Given the description of an element on the screen output the (x, y) to click on. 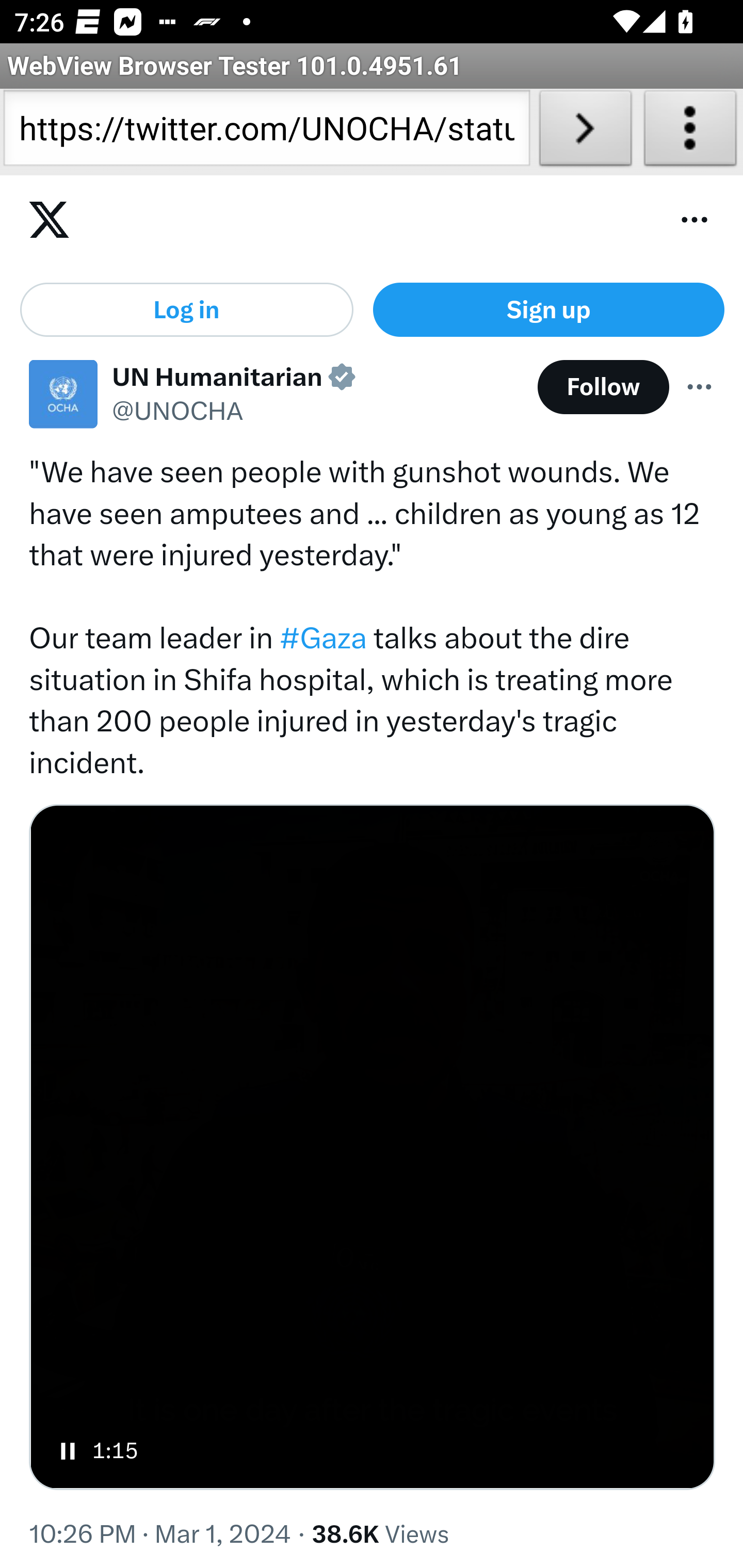
Load URL (585, 132)
About WebView (690, 132)
Follow @UNOCHA (602, 388)
More (699, 388)
@UNOCHA (177, 413)
#Gaza (322, 639)
Pause (68, 1452)
10:26 PM · Mar 1, 2024 (160, 1535)
